Given the description of an element on the screen output the (x, y) to click on. 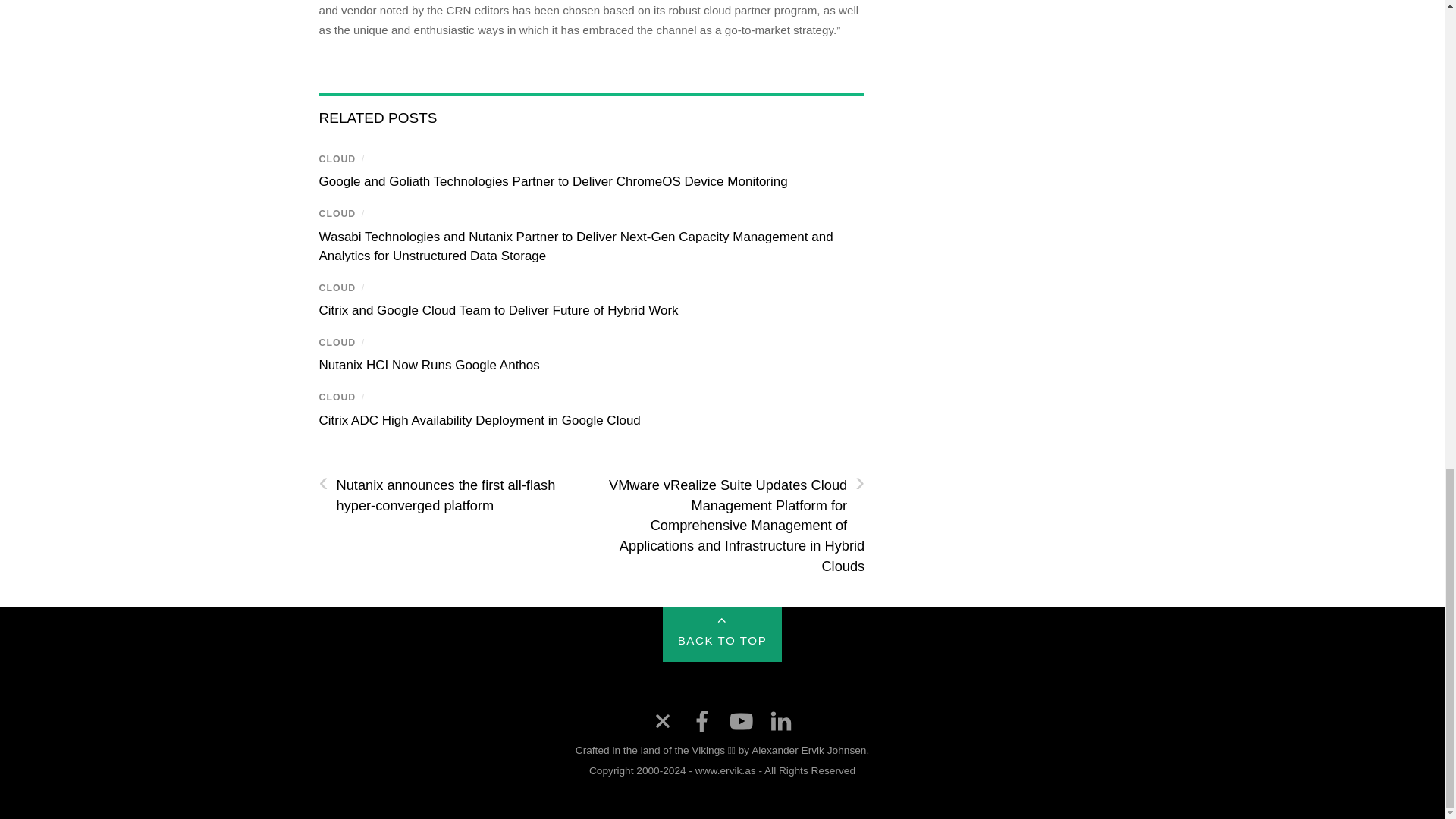
Citrix ADC High Availability Deployment in Google Cloud (479, 420)
Nutanix HCI Now Runs Google Anthos (428, 364)
